Given the description of an element on the screen output the (x, y) to click on. 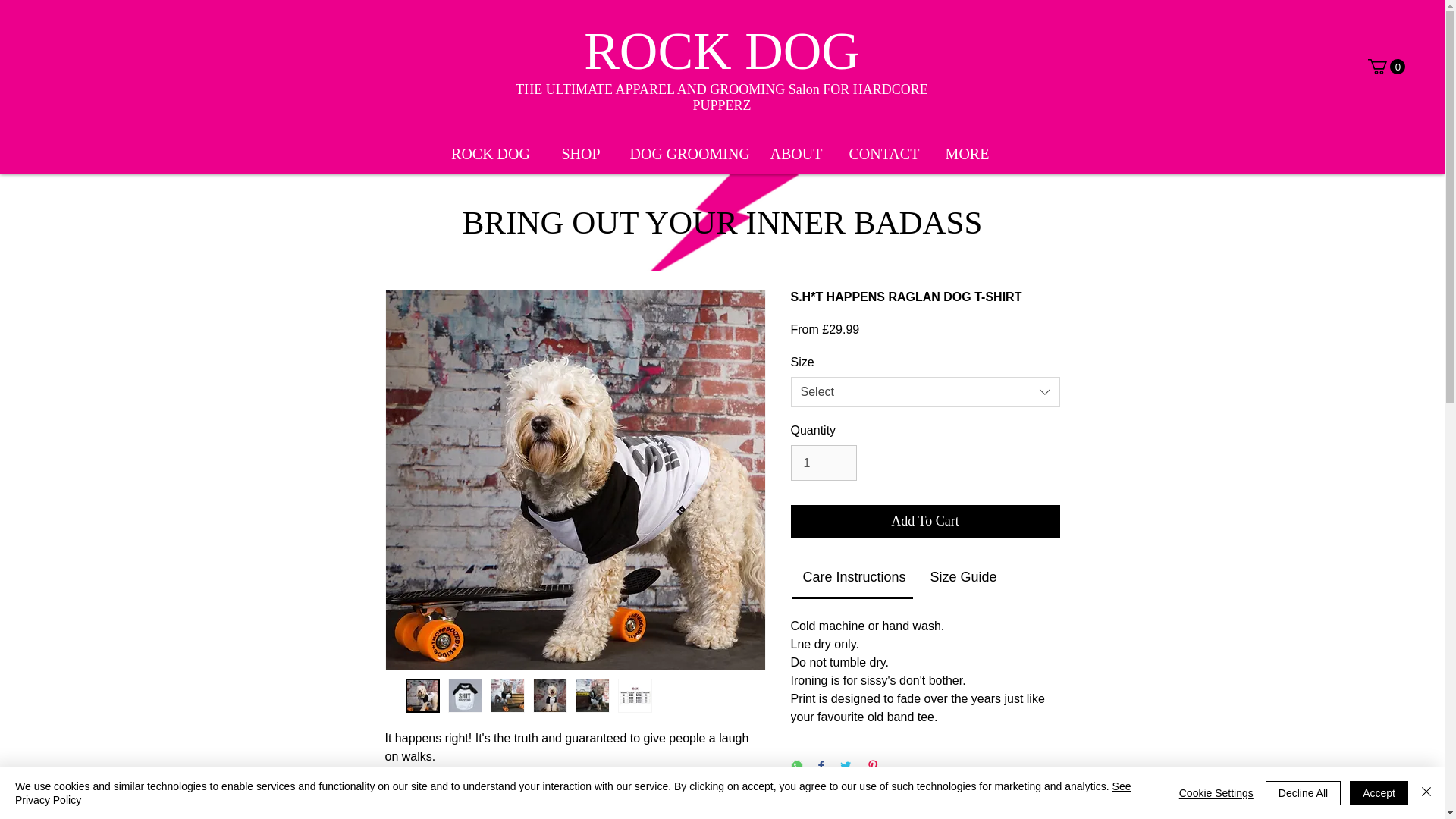
DOG GROOMING (686, 153)
ABOUT (796, 153)
SHOP (580, 153)
ROCK DOG (490, 153)
Use right and left arrows to navigate between tabs (853, 577)
0 (1386, 66)
0 (1386, 66)
CONTACT (882, 153)
ROCK DOG (721, 50)
Select (924, 391)
